Given the description of an element on the screen output the (x, y) to click on. 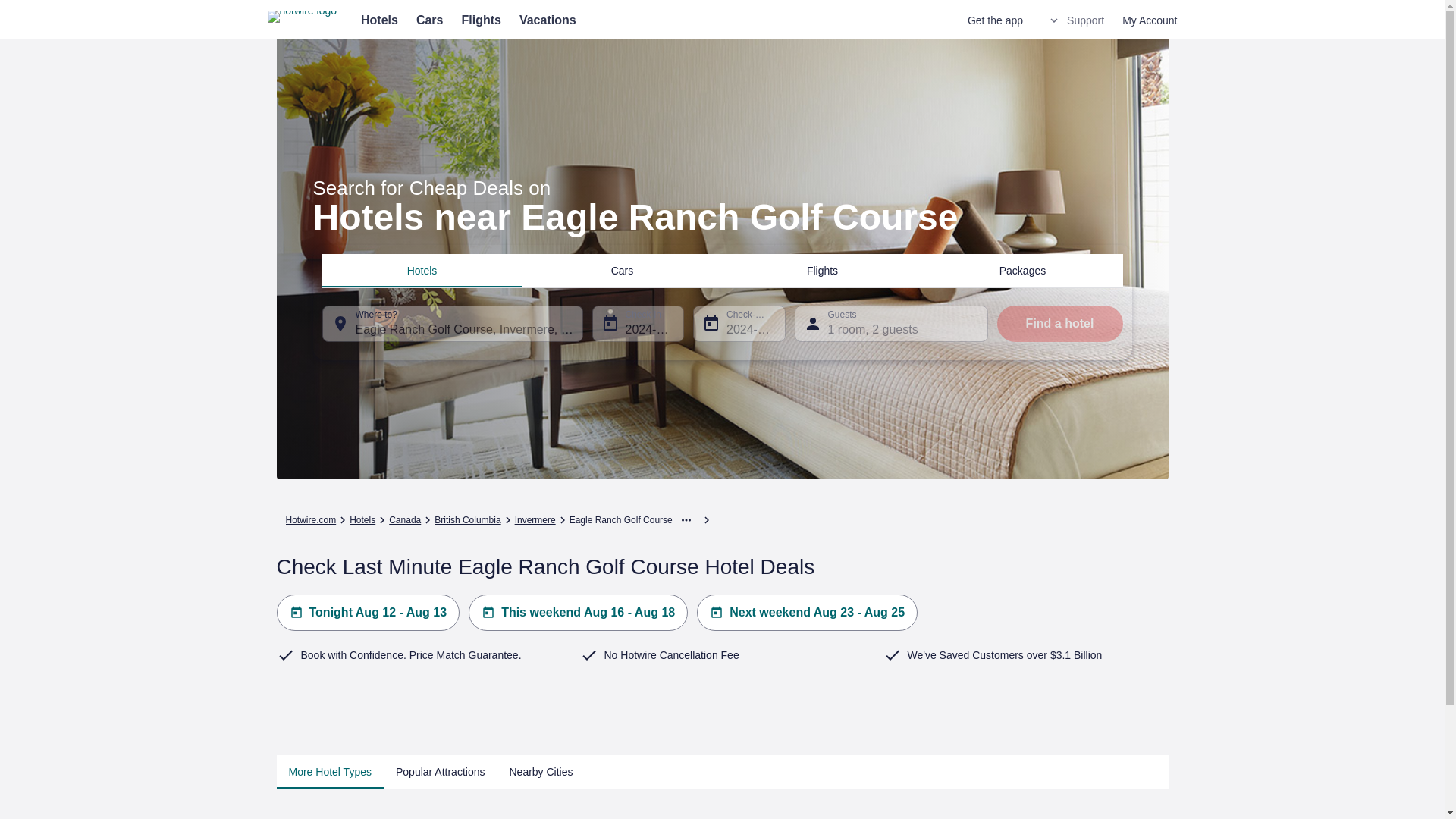
2024-08-12 (637, 322)
Popular Attractions (440, 771)
Eagle Ranch Golf Course, Invermere, British Columbia, Canada (451, 322)
More Hotel Types (329, 771)
Invermere (535, 520)
Nearby Cities (540, 771)
2024-08-13 (739, 322)
Next weekend Aug 23 - Aug 25 (807, 612)
Find a hotel (1058, 322)
